Given the description of an element on the screen output the (x, y) to click on. 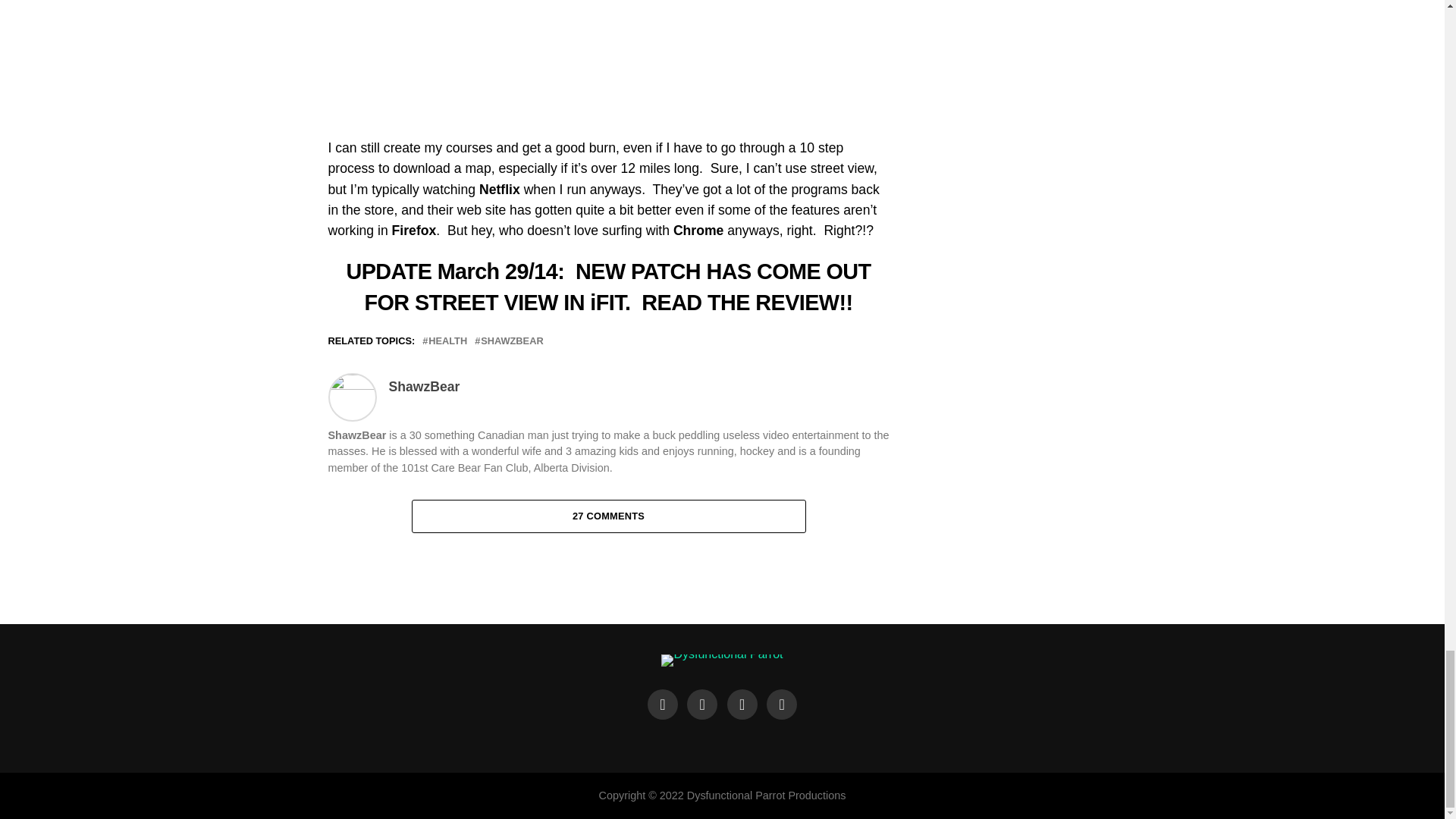
Posts by ShawzBear (424, 386)
